Given the description of an element on the screen output the (x, y) to click on. 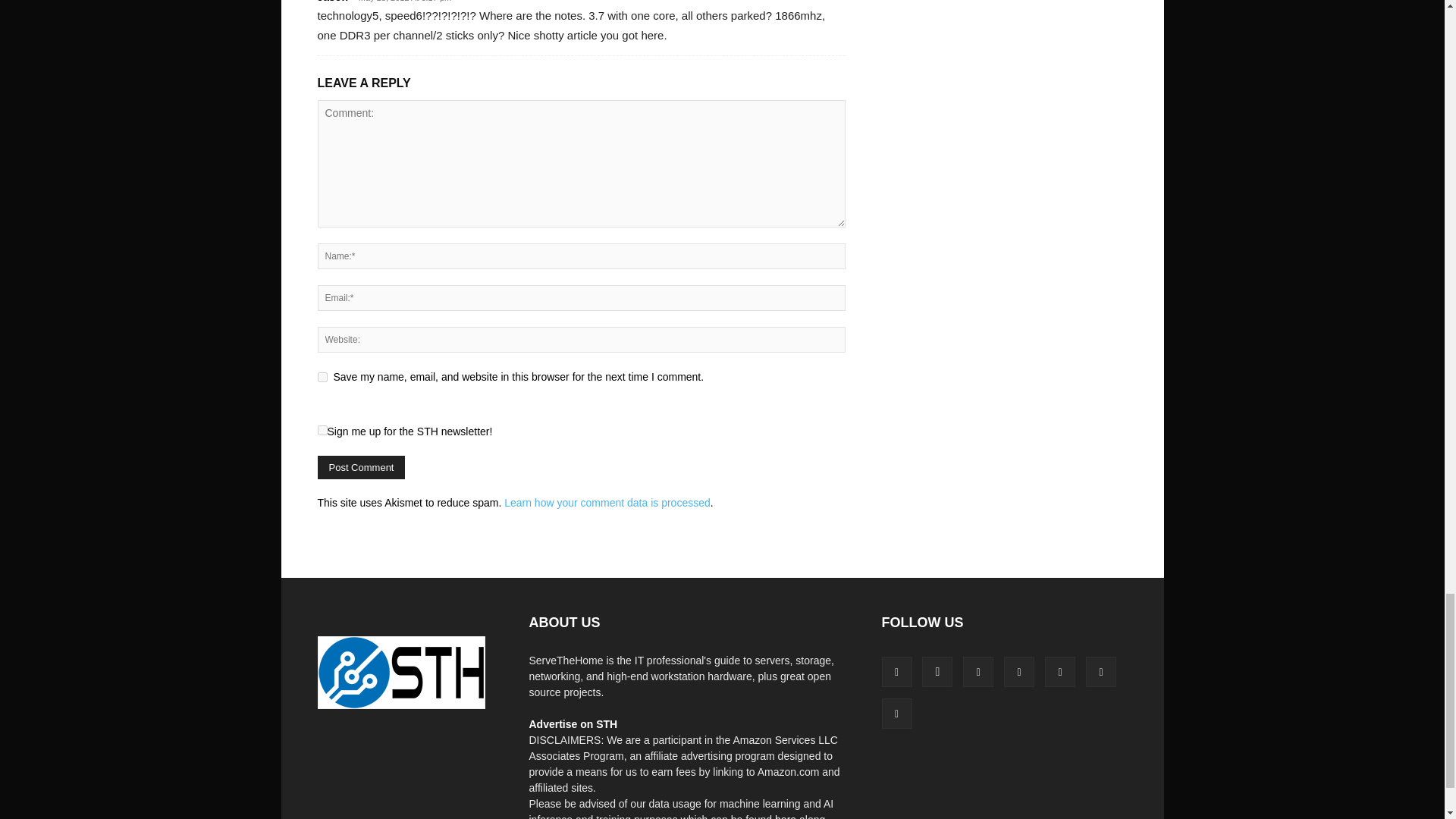
1 (321, 429)
Post Comment (360, 467)
yes (321, 377)
